Given the description of an element on the screen output the (x, y) to click on. 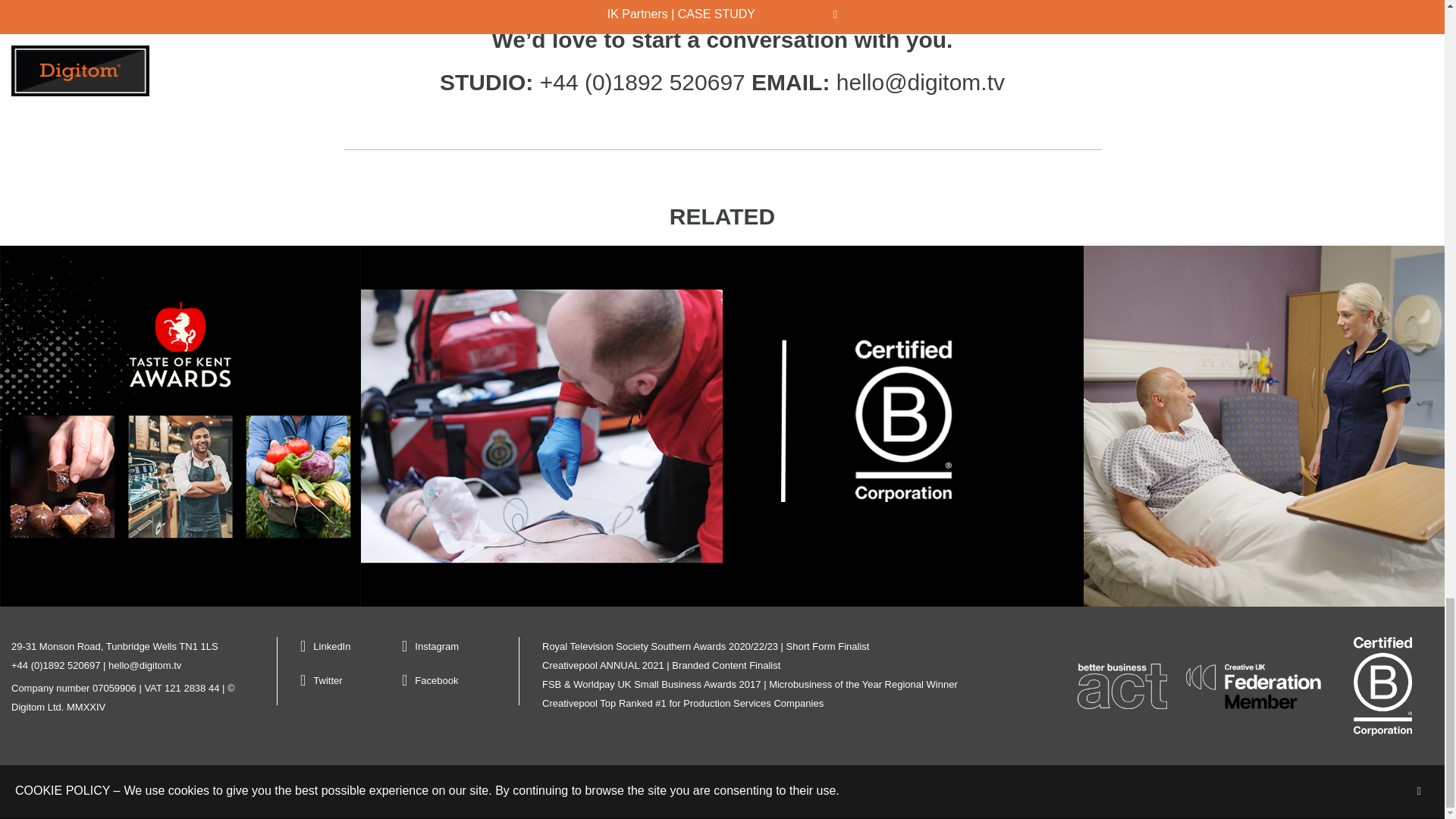
Back to top (1390, 792)
Facebook (452, 680)
Instagram (452, 646)
Site Map (307, 789)
Twitter (346, 680)
Privacy Policy (115, 789)
ESG Policy (36, 789)
Terms and Conditions (217, 789)
LinkedIn (346, 646)
